Given the description of an element on the screen output the (x, y) to click on. 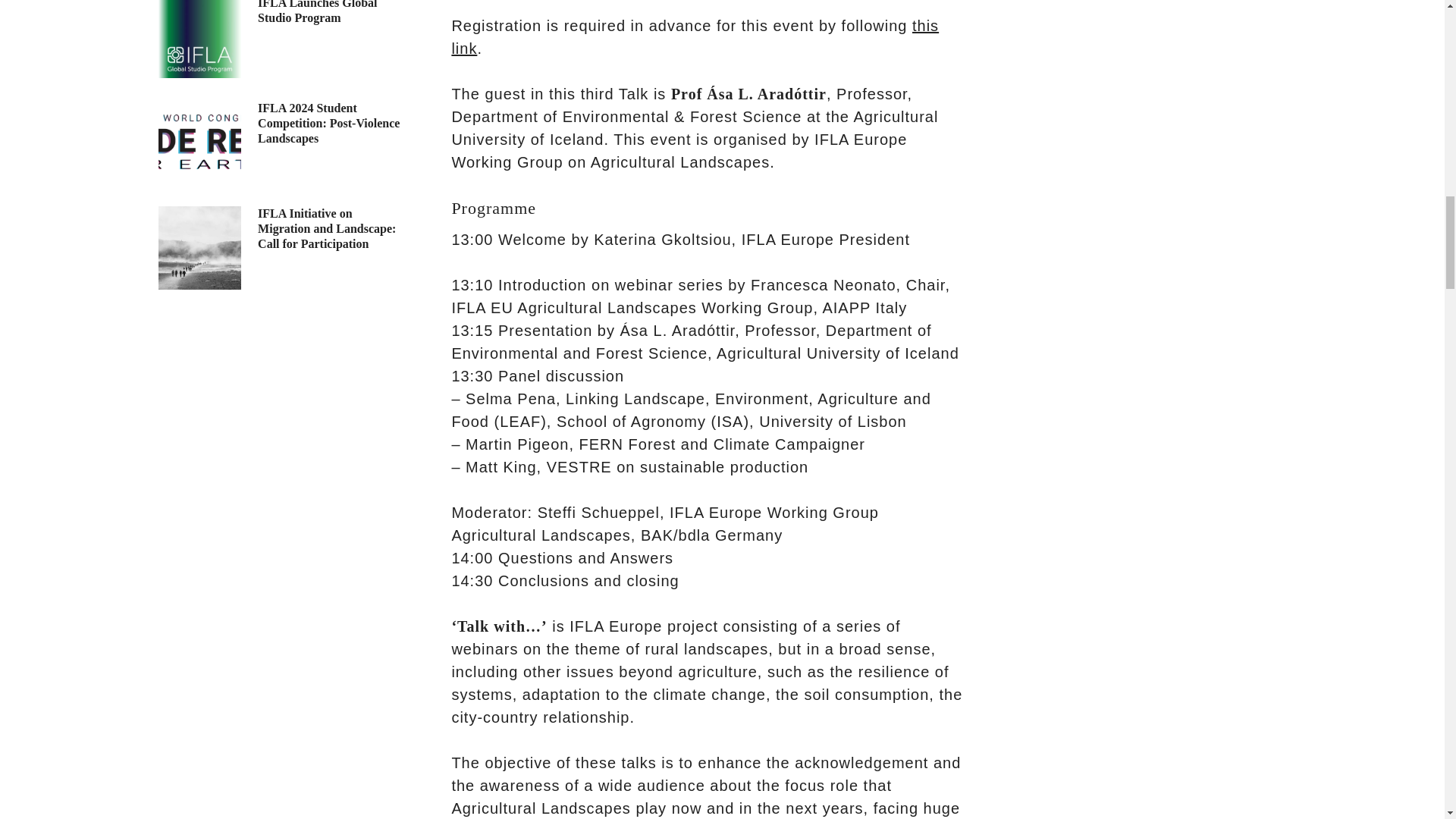
this link (695, 36)
IFLA Launches Global Studio Program (317, 12)
IFLA Launches Global Studio Program (199, 38)
IFLA 2024 Student Competition: Post-Violence Landscapes (327, 122)
IFLA 2024 Student Competition: Post-Violence Landscapes (199, 141)
